Given the description of an element on the screen output the (x, y) to click on. 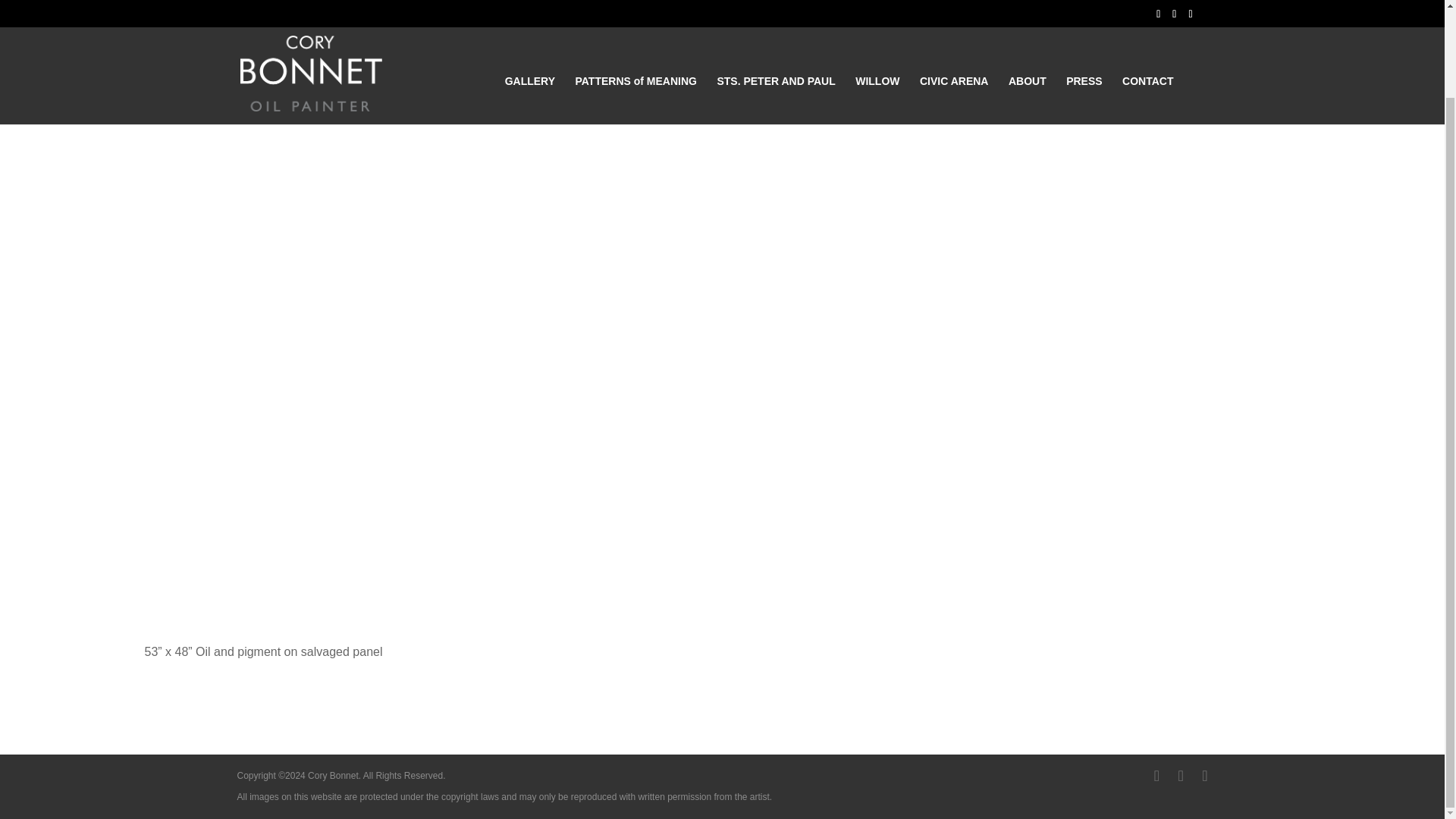
STS. PETER AND PAUL (775, 12)
CONTACT (1147, 12)
WILLOW (877, 12)
PATTERNS of MEANING (635, 12)
ABOUT (1027, 12)
PRESS (1083, 12)
GALLERY (529, 12)
CIVIC ARENA (954, 12)
